Given the description of an element on the screen output the (x, y) to click on. 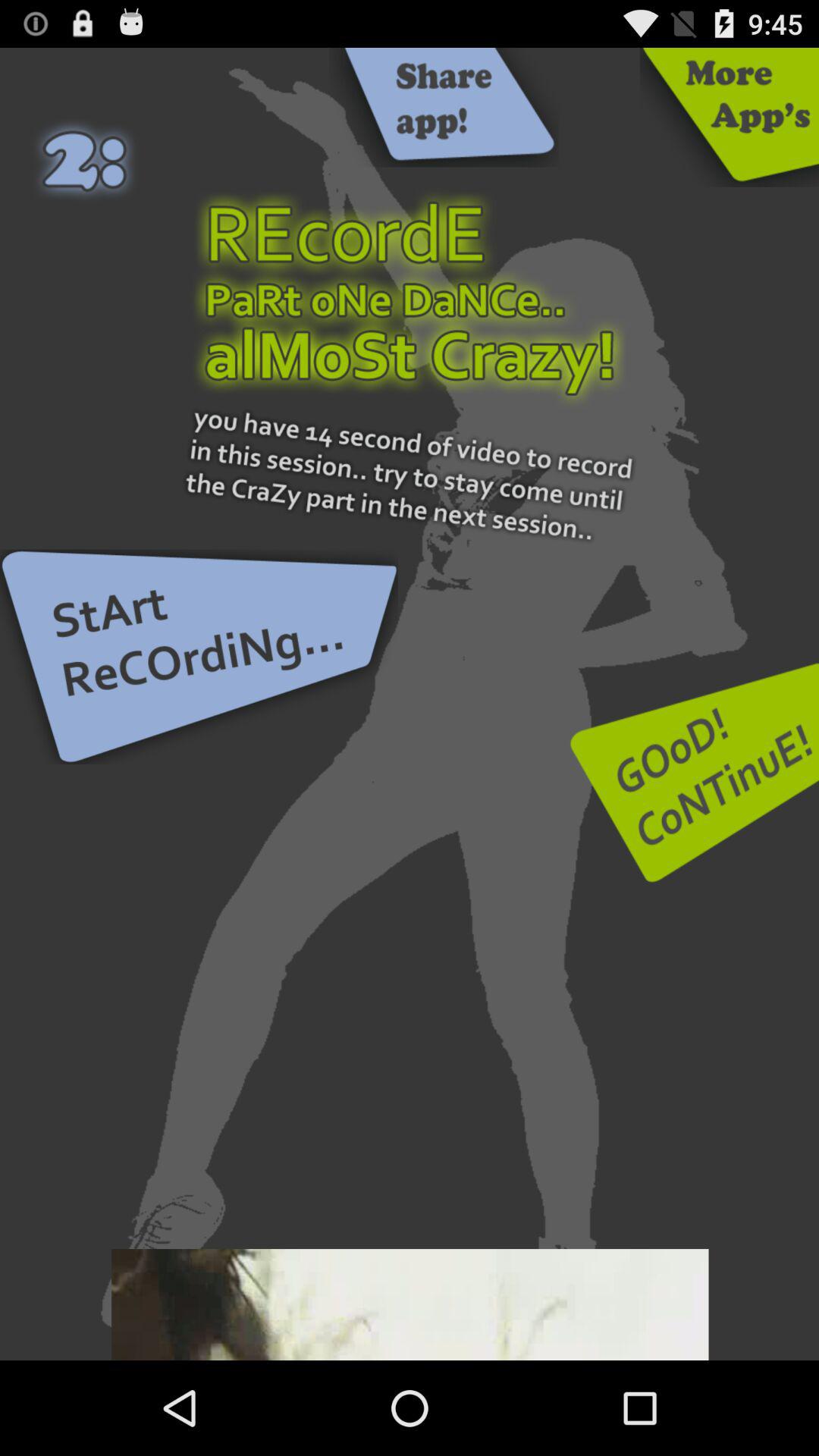
go to advertisement (409, 1304)
